Given the description of an element on the screen output the (x, y) to click on. 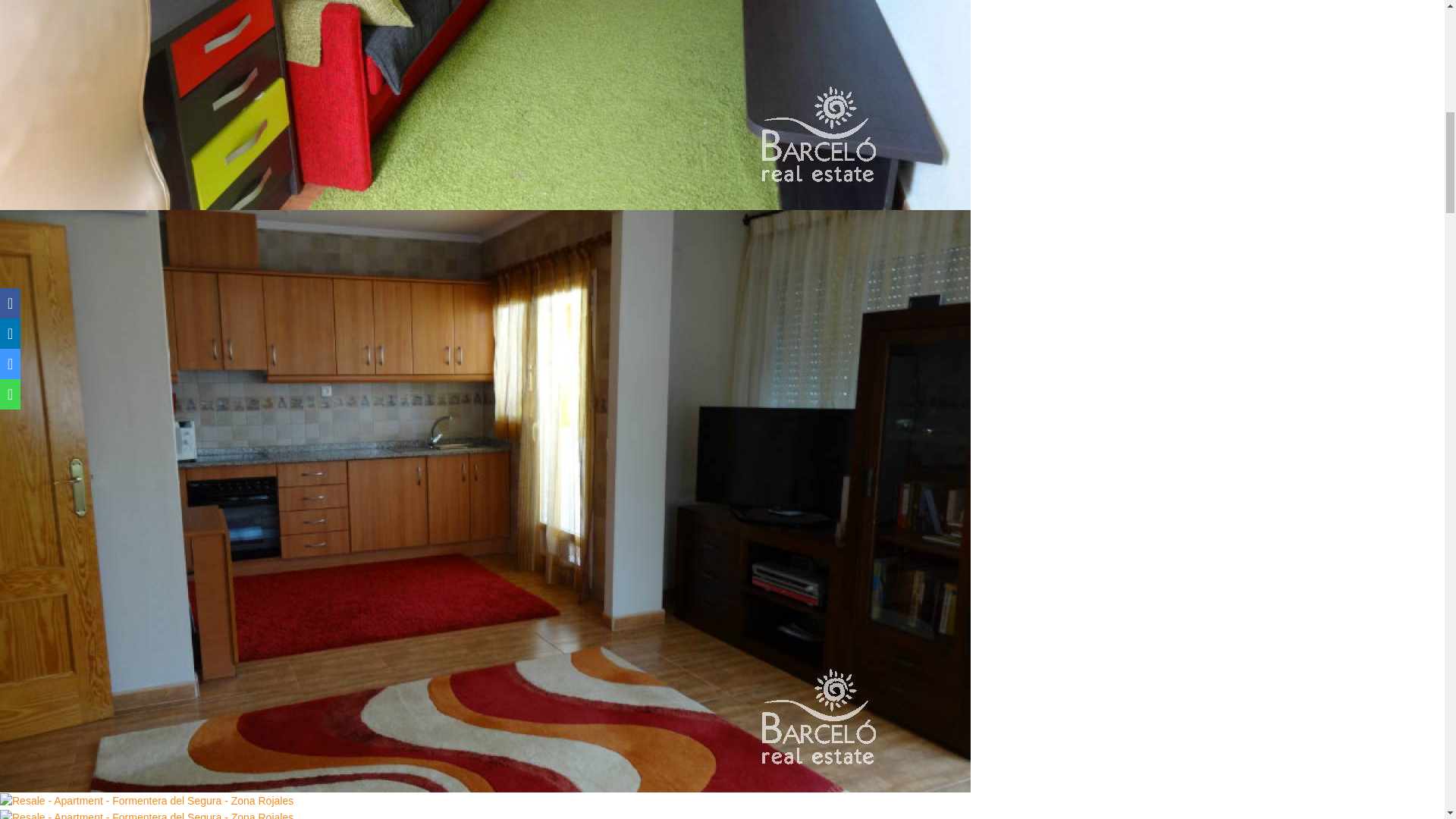
Resale - Apartment - Formentera del Segura - Zona Rojales (147, 801)
Resale - Apartment - Formentera del Segura - Zona Rojales (147, 814)
